Given the description of an element on the screen output the (x, y) to click on. 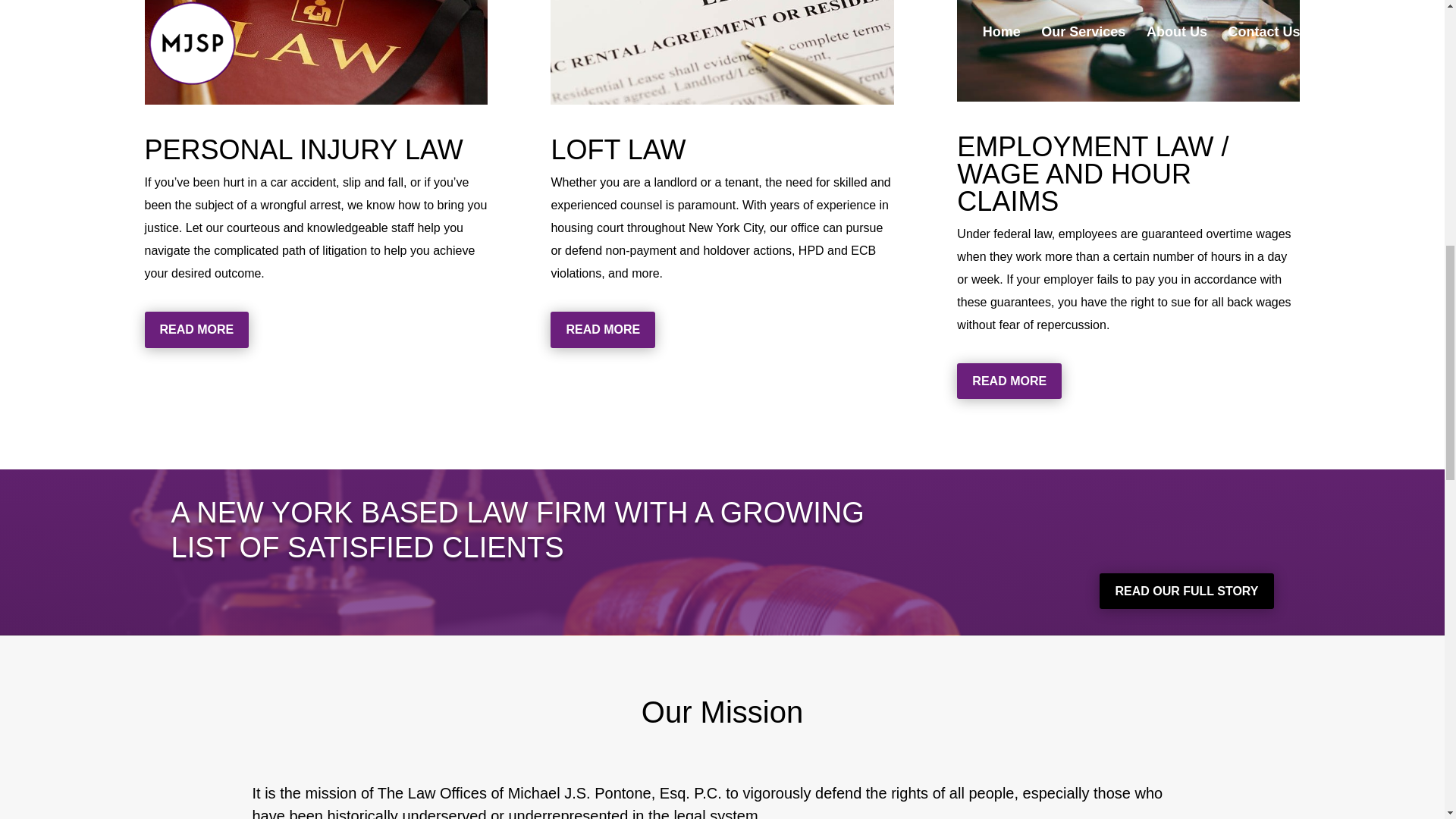
READ OUR FULL STORY (1185, 591)
READ MORE (1008, 380)
READ MORE (196, 329)
READ MORE (602, 329)
